Given the description of an element on the screen output the (x, y) to click on. 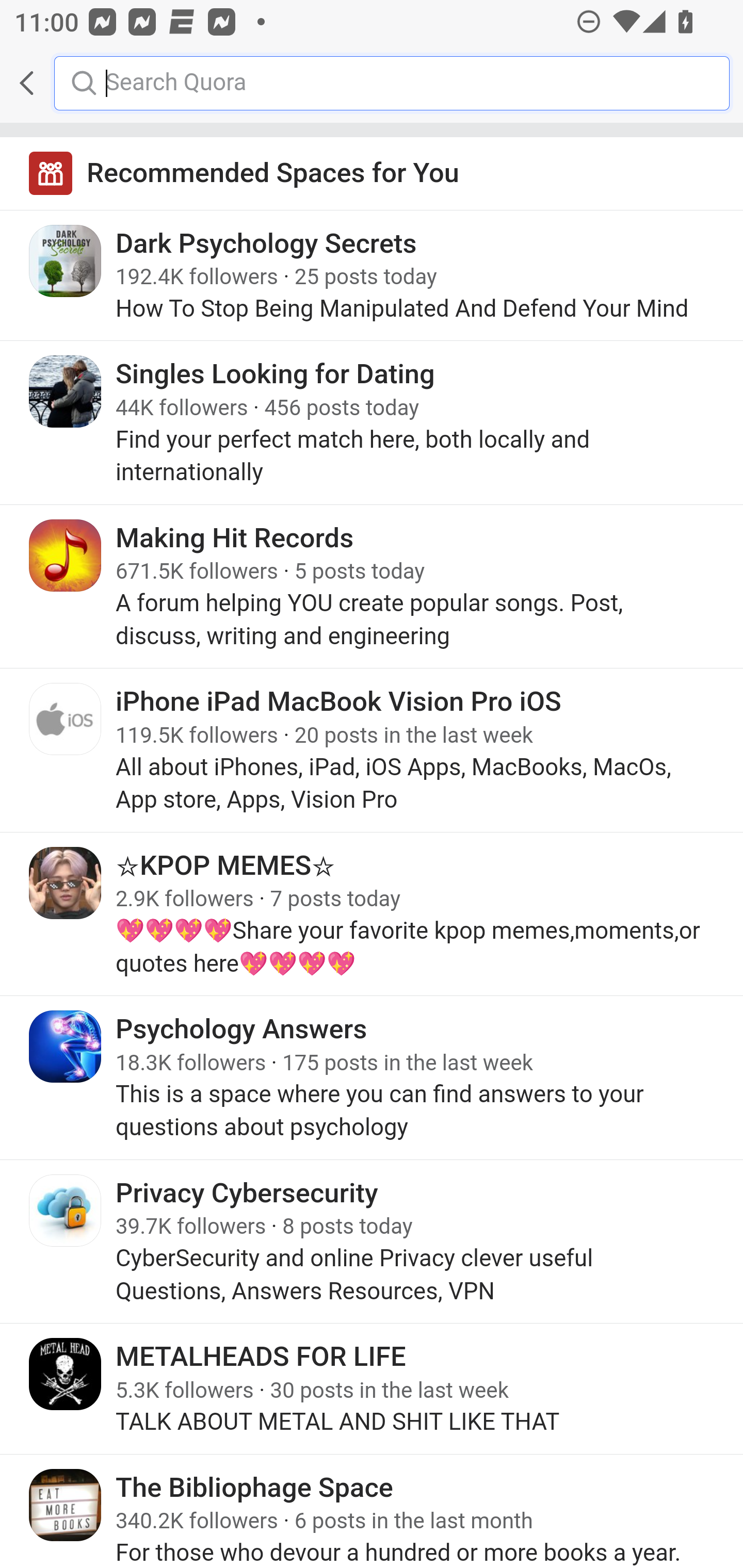
Me (64, 83)
Icon for Dark Psychology Secrets (65, 260)
Icon for Singles Looking for Dating (65, 391)
Icon for Making Hit Records (65, 554)
Icon for iPhone iPad MacBook Vision Pro iOS (65, 718)
Icon for ☆KPOP MEMES☆ (65, 882)
Icon for Psychology Answers (65, 1045)
Icon for Privacy Cybersecurity (65, 1209)
Icon for METALHEADS FOR LIFE (65, 1374)
Icon for The Bibliophage Space (65, 1504)
